Given the description of an element on the screen output the (x, y) to click on. 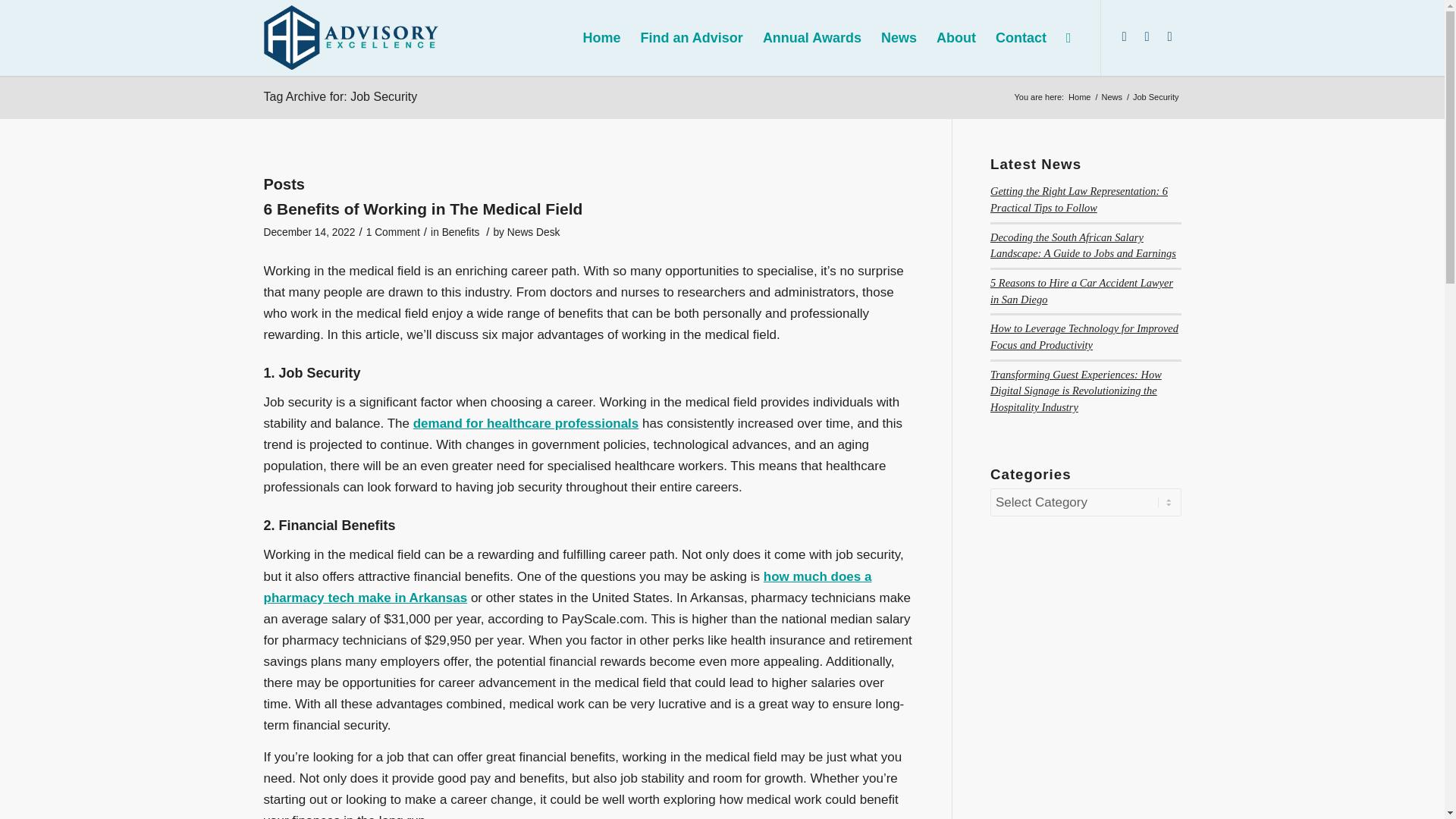
News Desk (533, 232)
News (1111, 97)
News (1111, 97)
Tag Archive for: Job Security (340, 96)
demand for healthcare professionals (526, 423)
how much does a pharmacy tech make in Arkansas (567, 587)
Permanent Link: 6 Benefits of Working in The Medical Field (423, 208)
Advisory-Excellence-logo (351, 36)
